Given the description of an element on the screen output the (x, y) to click on. 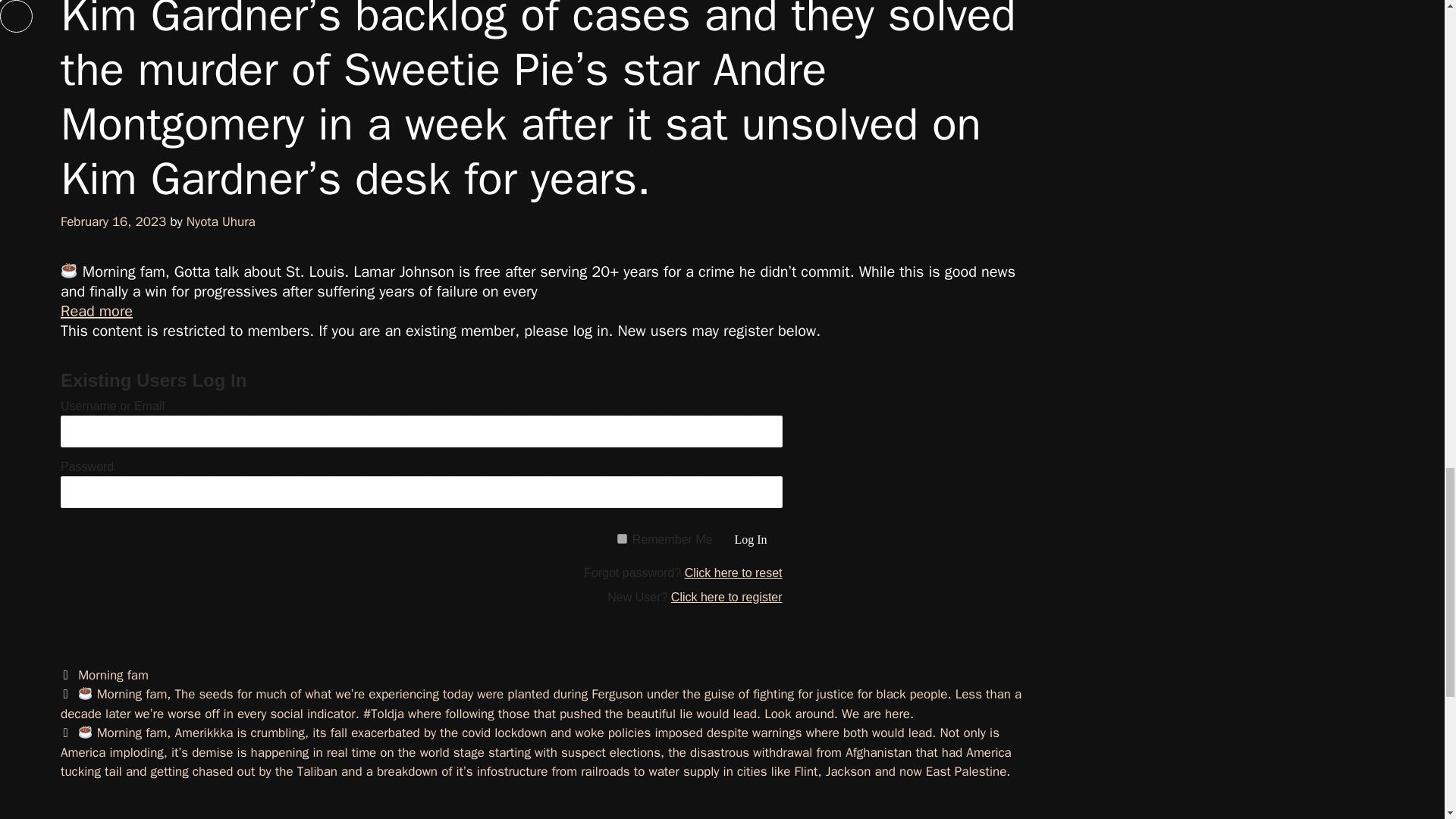
View all posts by Nyota Uhura (221, 221)
6:16 AM (113, 221)
Next (536, 751)
Morning fam (113, 675)
Click here to reset (733, 572)
Log In (750, 539)
Previous (541, 703)
Log In (750, 539)
Nyota Uhura (221, 221)
February 16, 2023 (113, 221)
forever (622, 538)
Click here to register (727, 596)
